Given the description of an element on the screen output the (x, y) to click on. 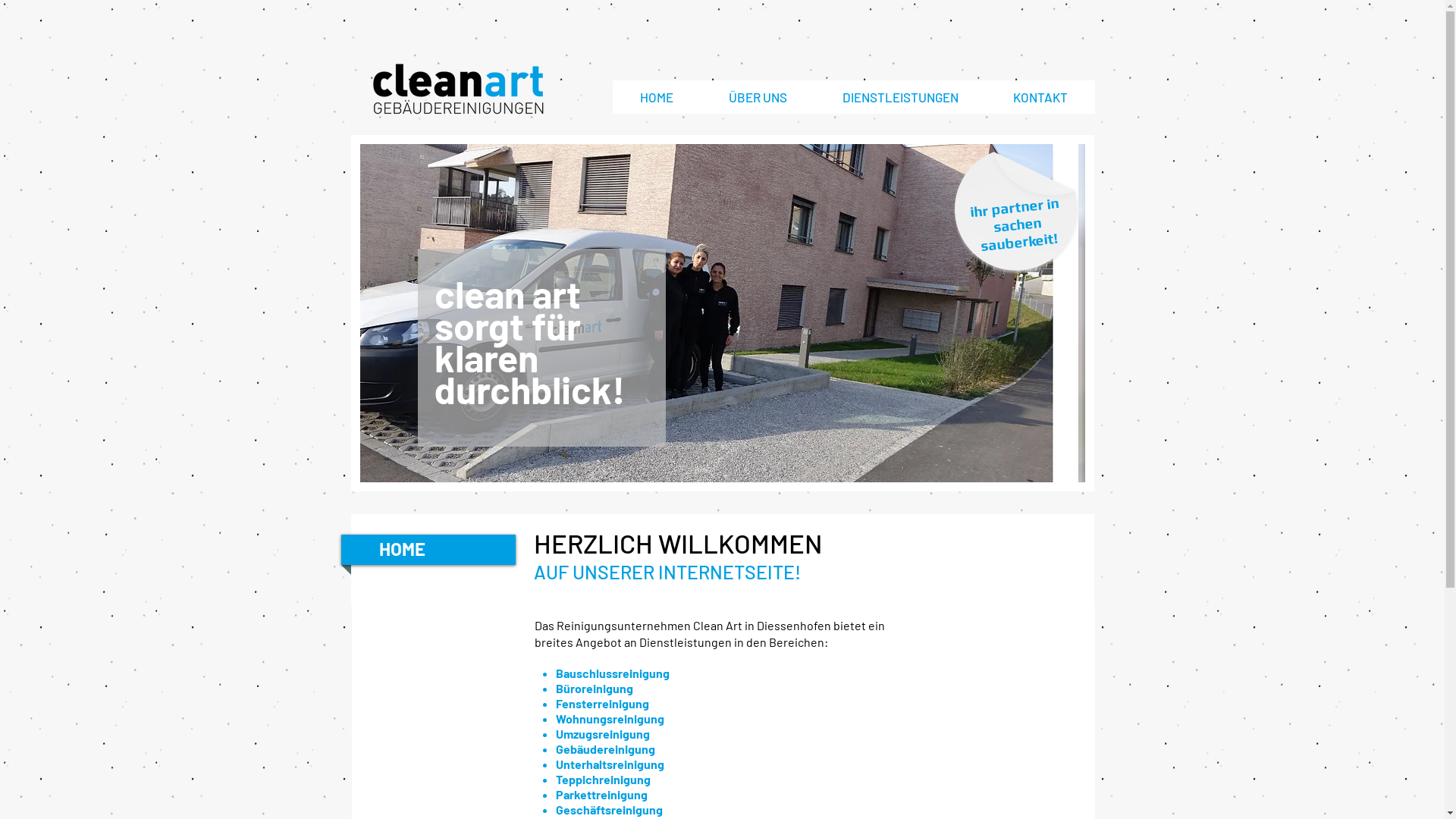
DIENSTLEISTUNGEN Element type: text (899, 96)
HOME Element type: text (656, 96)
KONTAKT Element type: text (1040, 96)
